Given the description of an element on the screen output the (x, y) to click on. 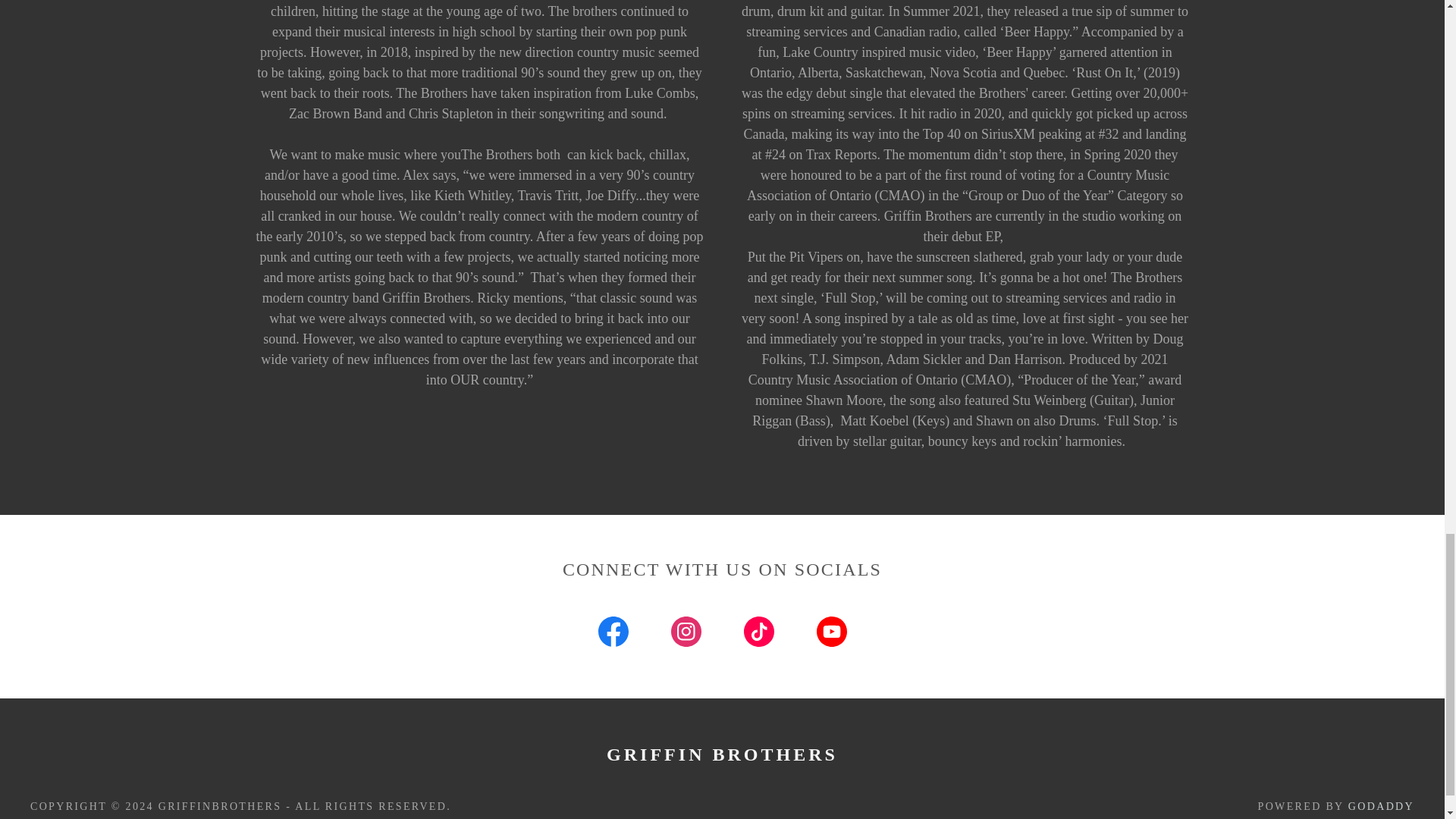
GODADDY (1380, 806)
